Given the description of an element on the screen output the (x, y) to click on. 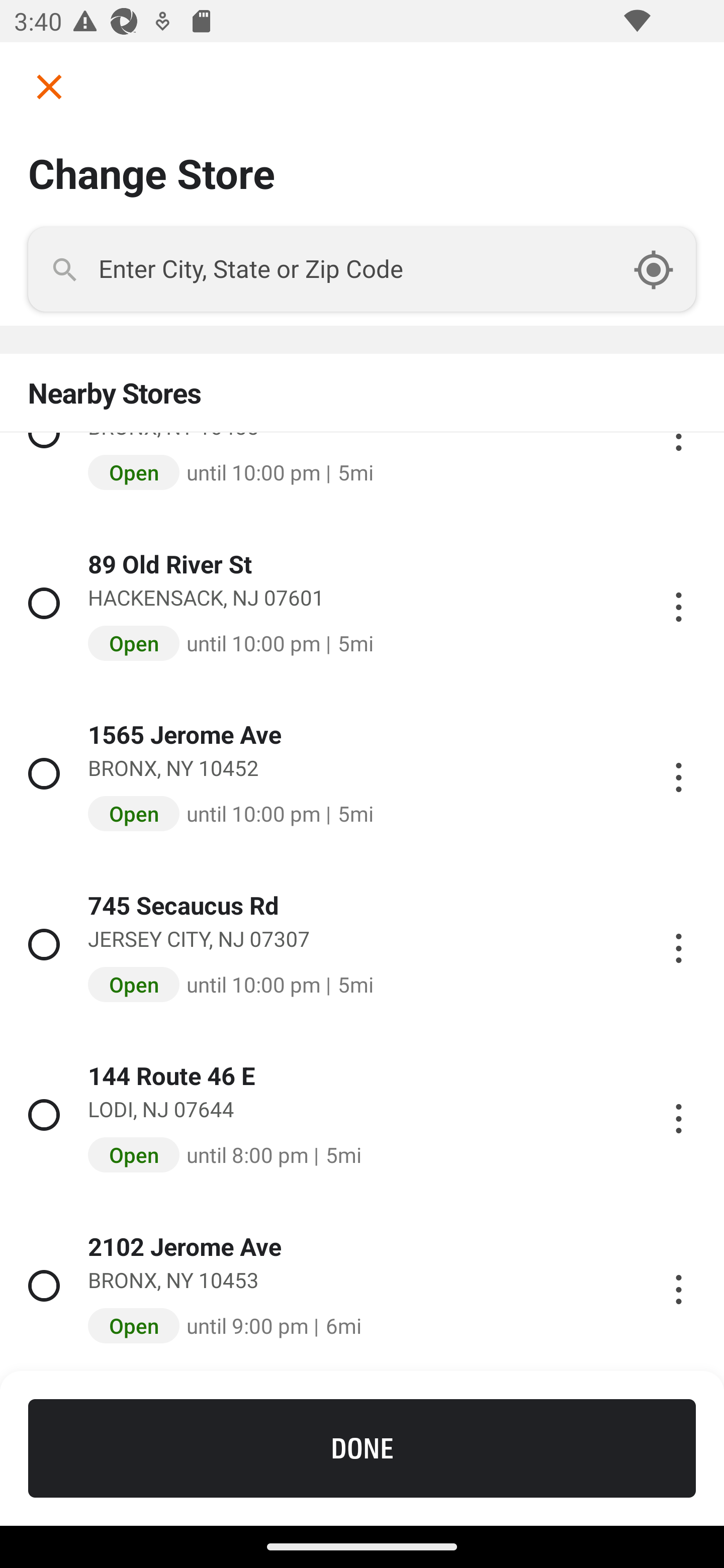
close-button  (42, 86)
Enter City, State or Zip Code search-bar-input (361, 269)
search-location-button  (663, 269)
more-actions-for-89 Old River St ︙ (678, 602)
more-actions-for-1565 Jerome Ave ︙ (678, 773)
more-actions-for-745 Secaucus Rd ︙ (678, 944)
more-actions-for-144 Route 46 E ︙ (678, 1114)
more-actions-for-2102 Jerome Ave ︙ (678, 1286)
DONE (361, 1447)
